Given the description of an element on the screen output the (x, y) to click on. 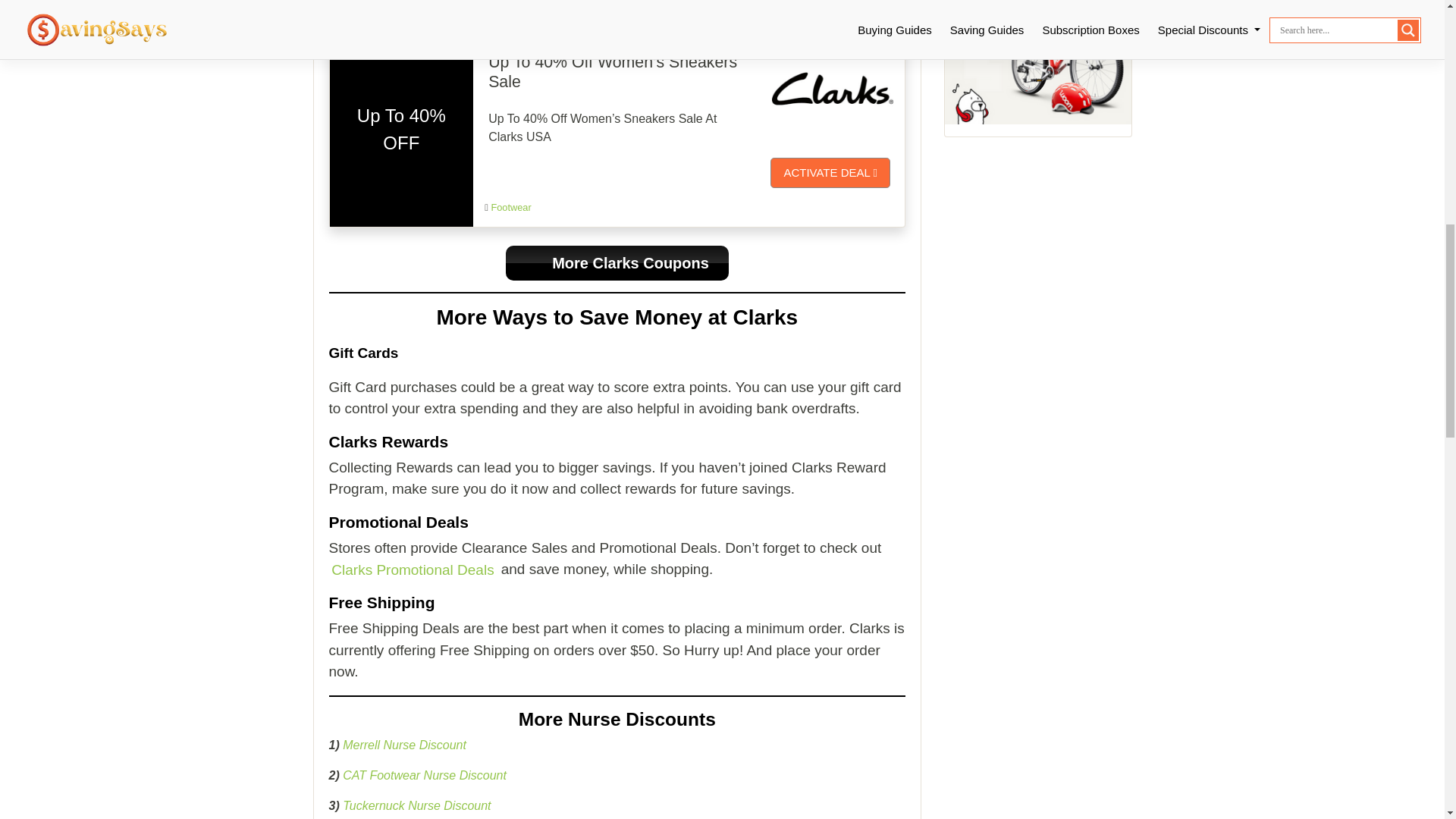
Footwear (510, 2)
ACTIVATE DEAL (829, 173)
CAT Footwear Nurse Discount (424, 775)
Tuckernuck Nurse Discount (416, 805)
Clarks Promotional Deals (412, 569)
Merrell Nurse Discount (403, 744)
Footwear (510, 206)
More Clarks Coupons (617, 262)
